Given the description of an element on the screen output the (x, y) to click on. 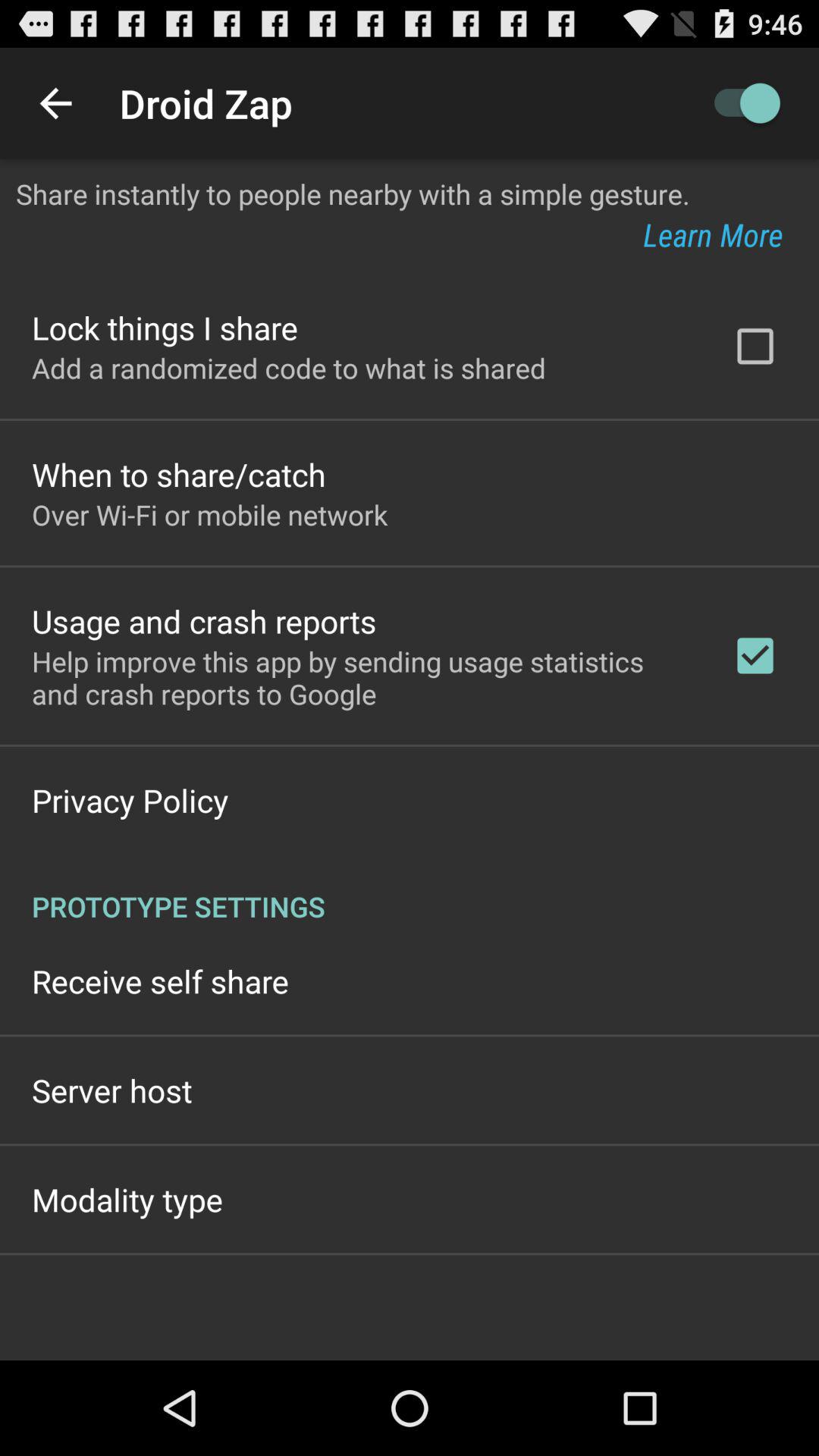
turn off the app above usage and crash app (209, 514)
